Given the description of an element on the screen output the (x, y) to click on. 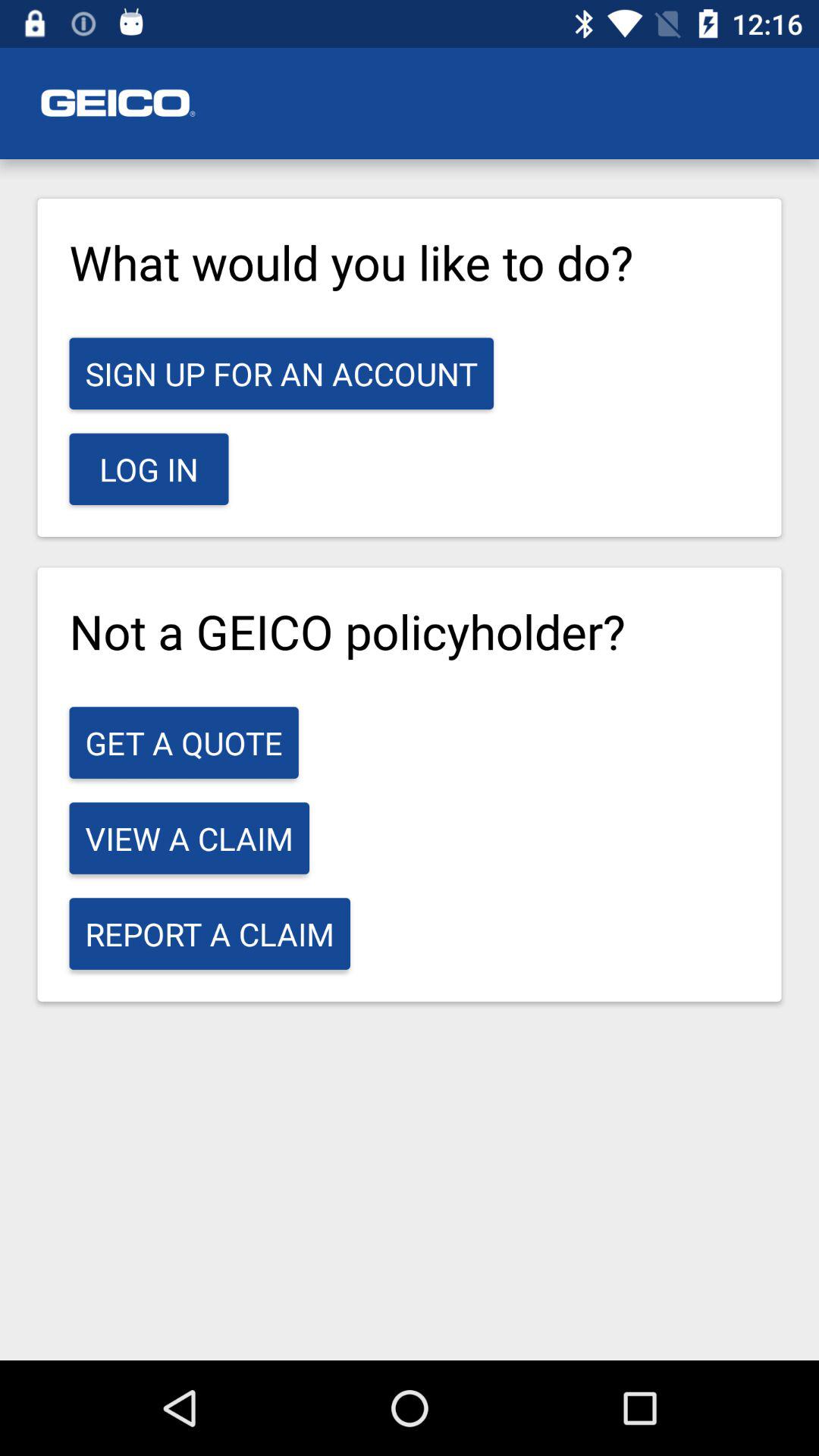
turn off icon below the not a geico icon (183, 742)
